Given the description of an element on the screen output the (x, y) to click on. 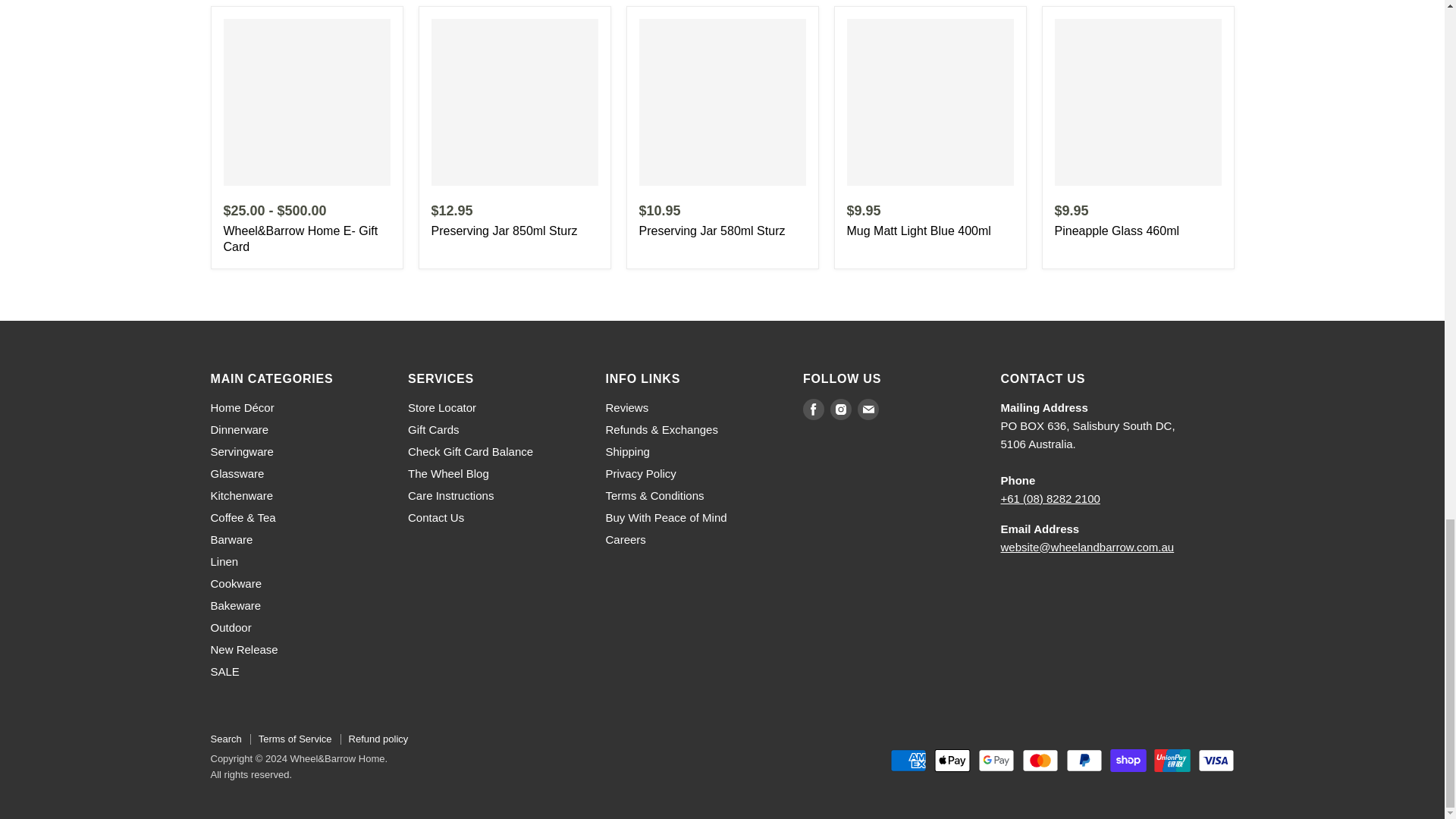
tel:0882822100 (1050, 497)
Facebook (813, 409)
Email (868, 409)
Instagram (840, 409)
